Given the description of an element on the screen output the (x, y) to click on. 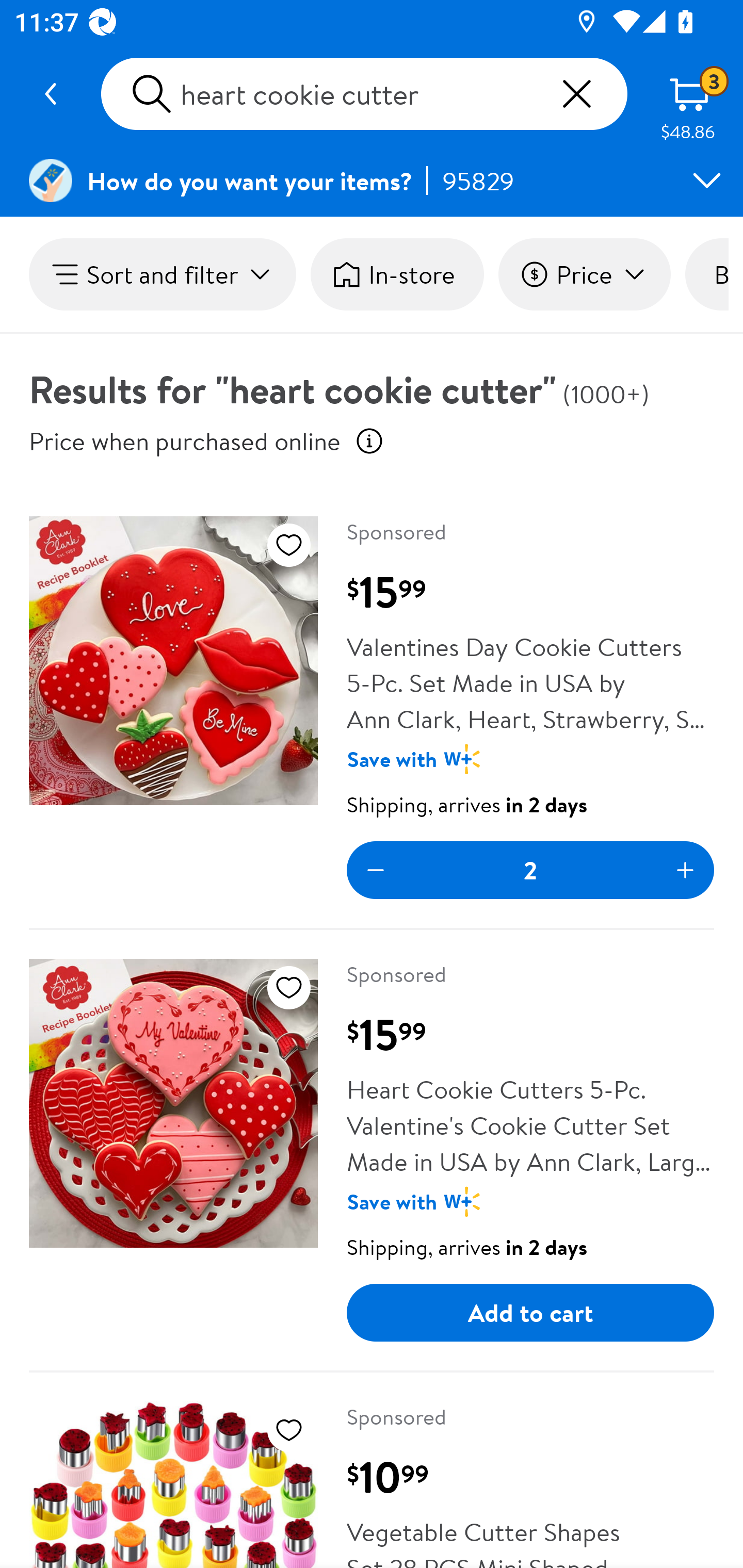
Navigate up (50, 93)
heart cookie cutter Clear Text (364, 94)
Clear Text (576, 94)
Price when purchased online (184, 440)
Price when purchased online (369, 440)
Add to cart (530, 1313)
